Given the description of an element on the screen output the (x, y) to click on. 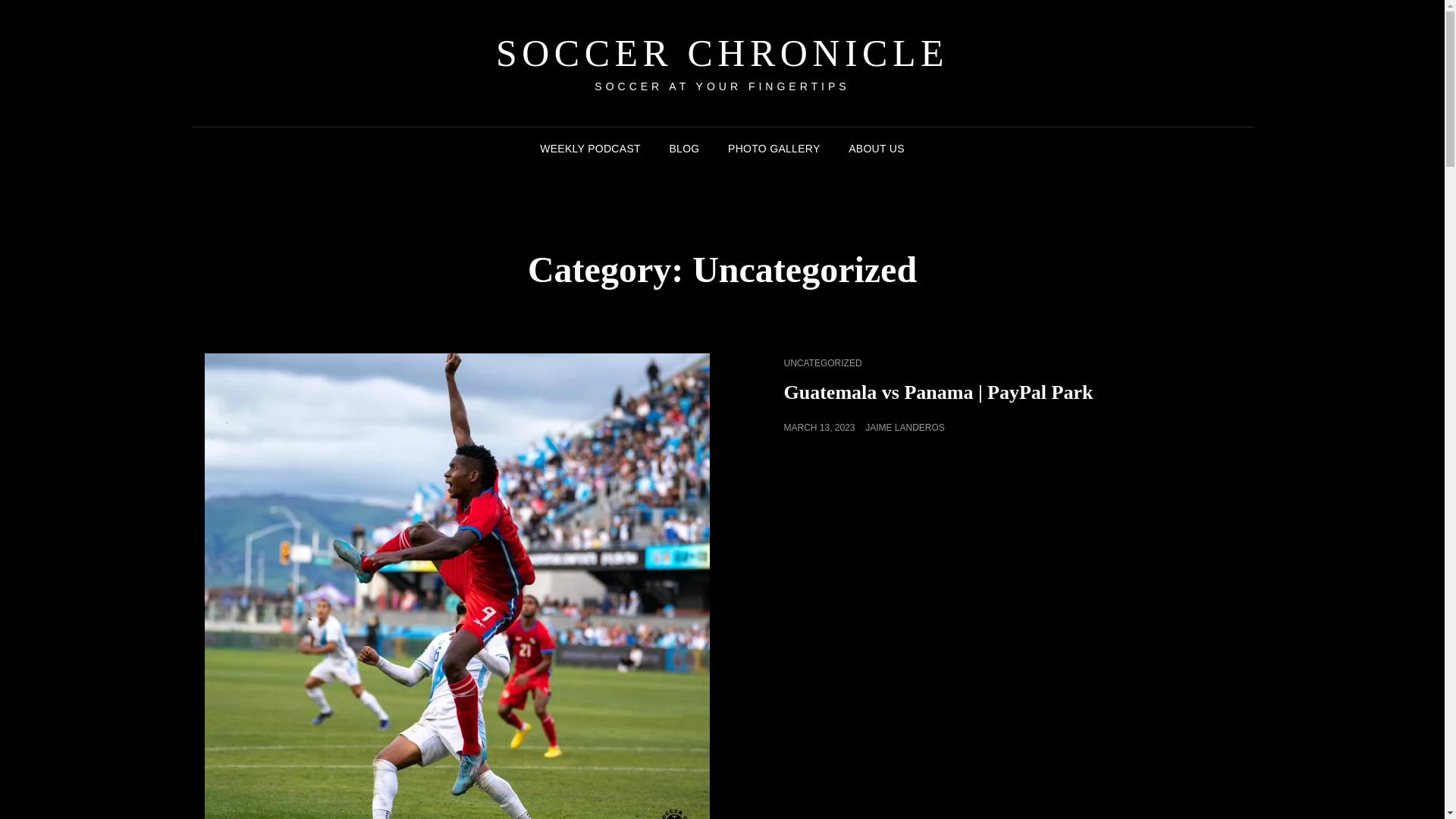
JAIME LANDEROS (904, 427)
UNCATEGORIZED (822, 362)
PHOTO GALLERY (774, 148)
SOCCER CHRONICLE (722, 52)
WEEKLY PODCAST (589, 148)
MARCH 13, 2023 (820, 427)
BLOG (683, 148)
ABOUT US (876, 148)
